Given the description of an element on the screen output the (x, y) to click on. 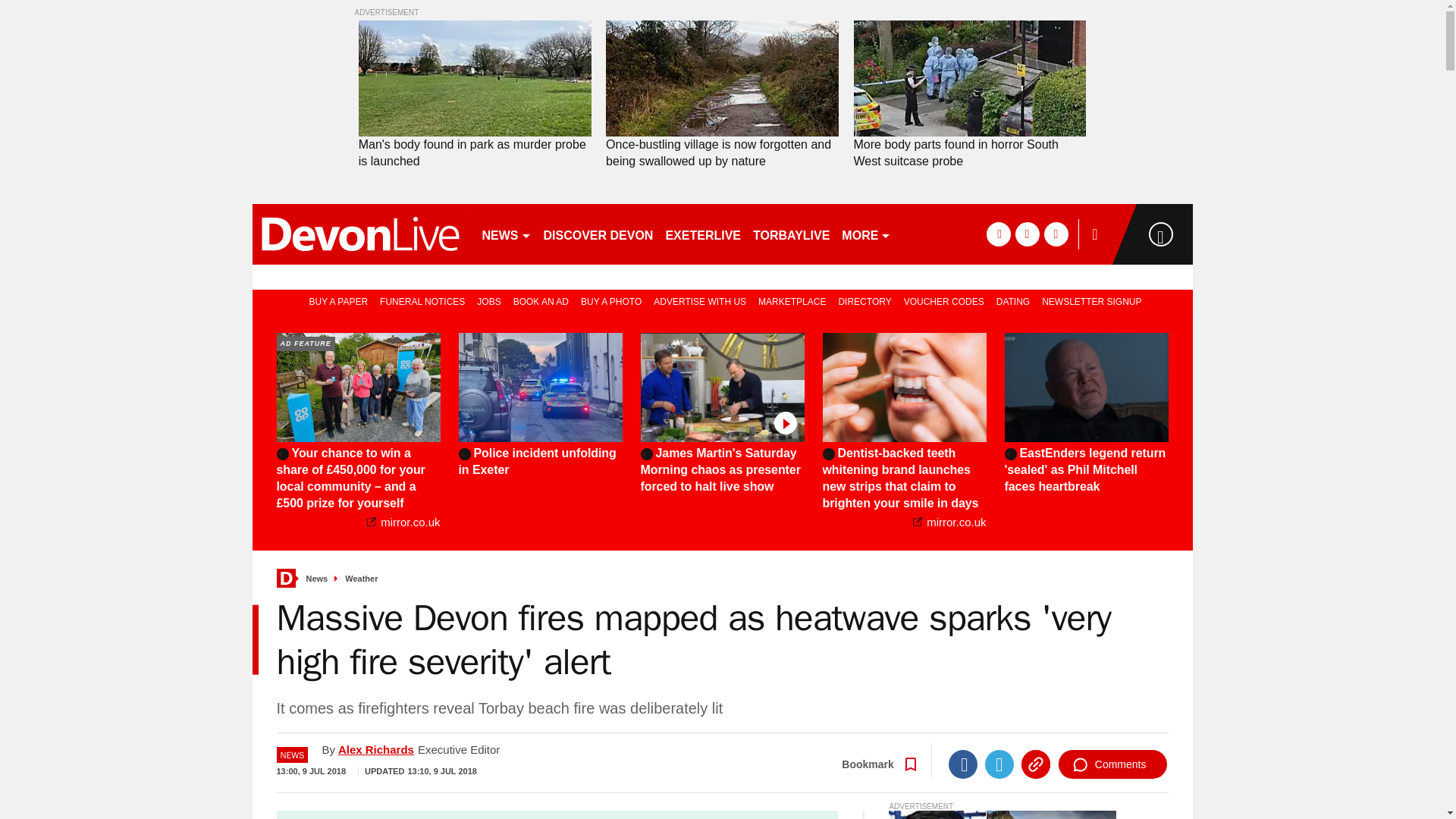
More body parts found in horror South West suitcase probe (969, 152)
Man's body found in park as murder probe is launched (474, 152)
DISCOVER DEVON (598, 233)
facebook (997, 233)
More body parts found in horror South West suitcase probe (969, 78)
Comments (1112, 764)
instagram (1055, 233)
MORE (865, 233)
twitter (1026, 233)
Man's body found in park as murder probe is launched (474, 152)
devonlive (359, 233)
More body parts found in horror South West suitcase probe (969, 152)
Man's body found in park as murder probe is launched (474, 78)
